Given the description of an element on the screen output the (x, y) to click on. 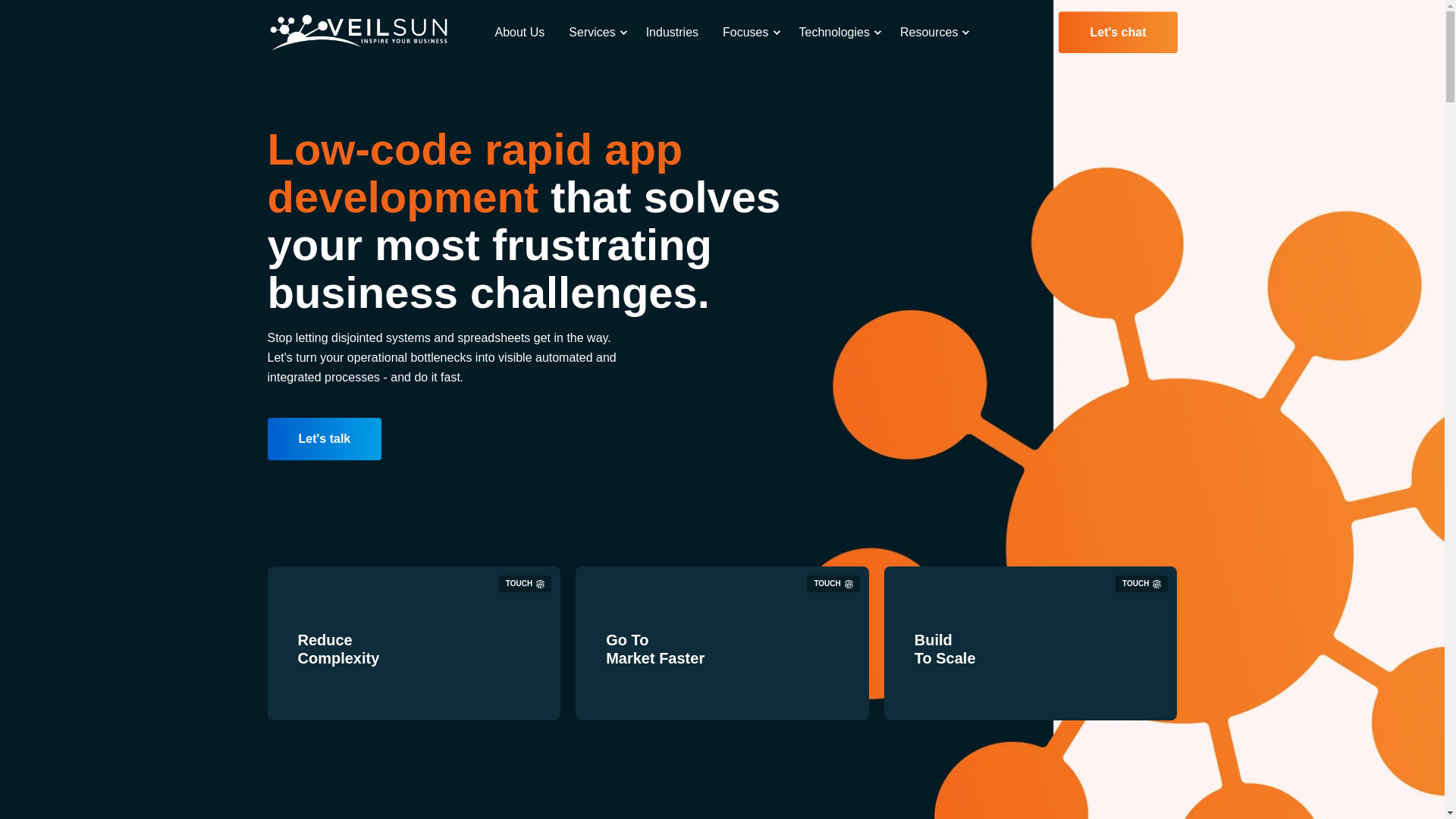
Industries (671, 32)
Technologies (837, 32)
Button Let's talk (323, 438)
About Us (525, 32)
Services (594, 32)
Focuses (748, 32)
